Given the description of an element on the screen output the (x, y) to click on. 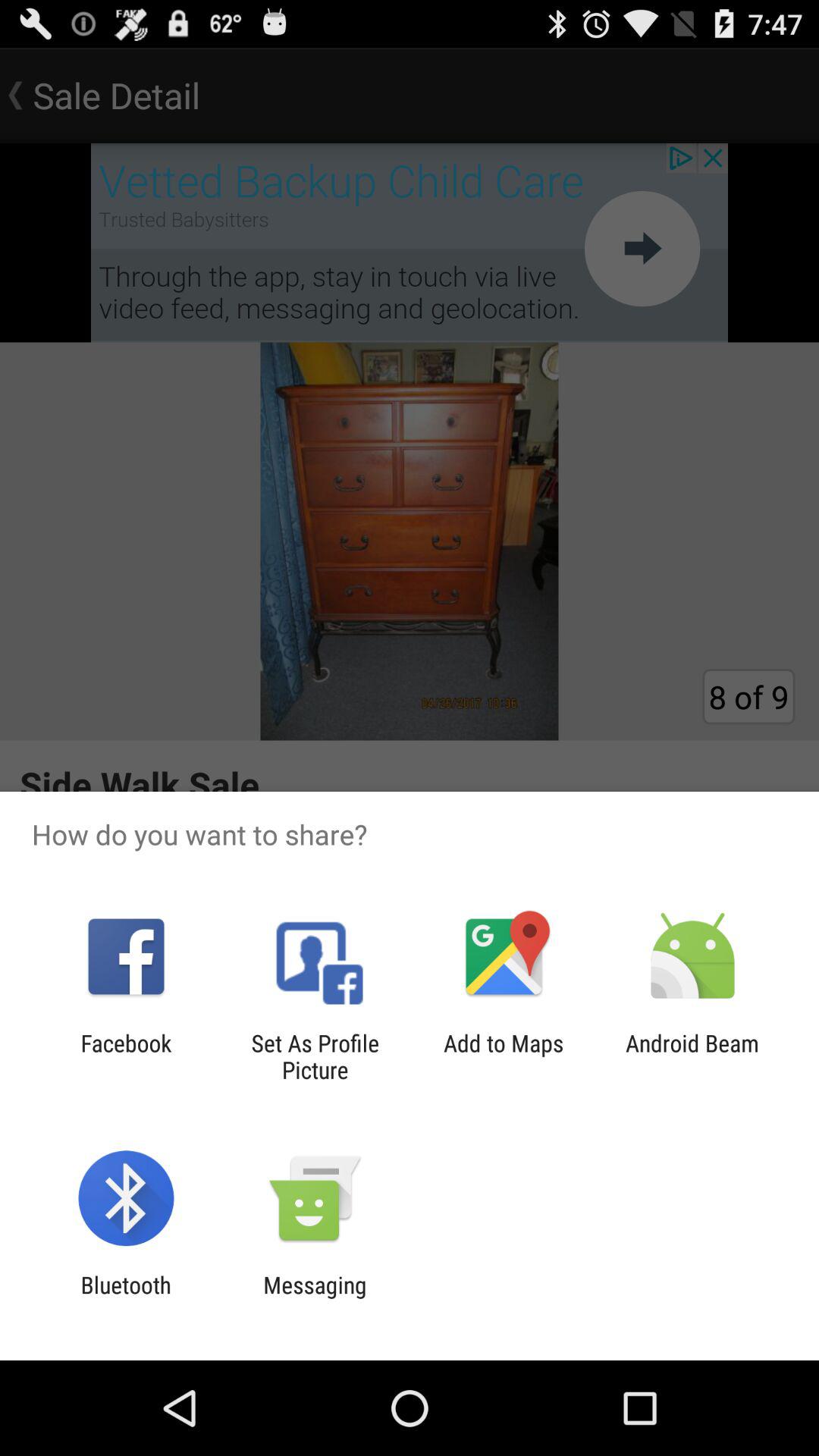
jump until the messaging (314, 1298)
